Given the description of an element on the screen output the (x, y) to click on. 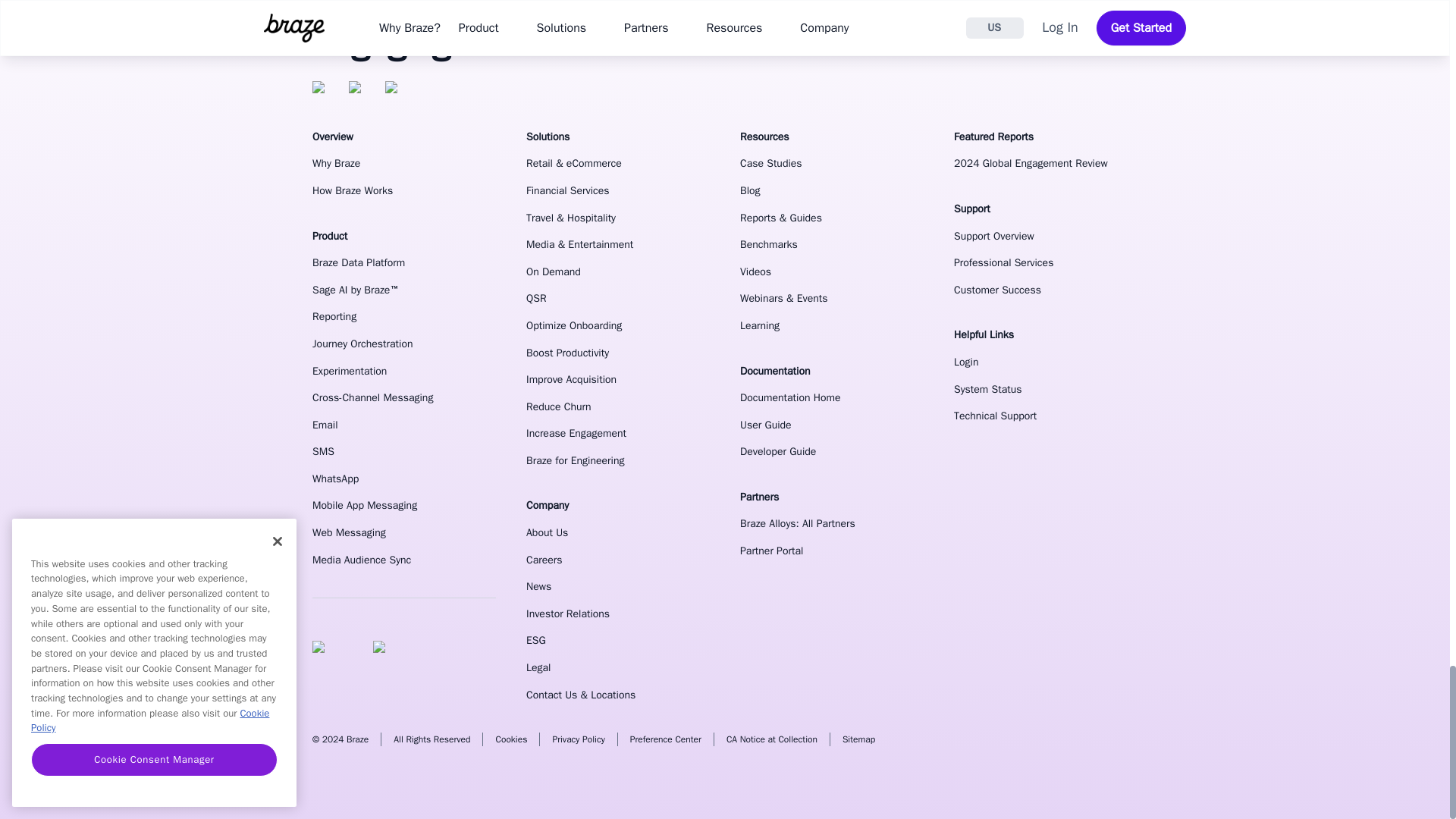
Why Braze (404, 163)
How Braze Works (404, 191)
Braze Data Platform (404, 263)
Journey Orchestration (404, 344)
Reporting (404, 316)
Experimentation (404, 371)
